Given the description of an element on the screen output the (x, y) to click on. 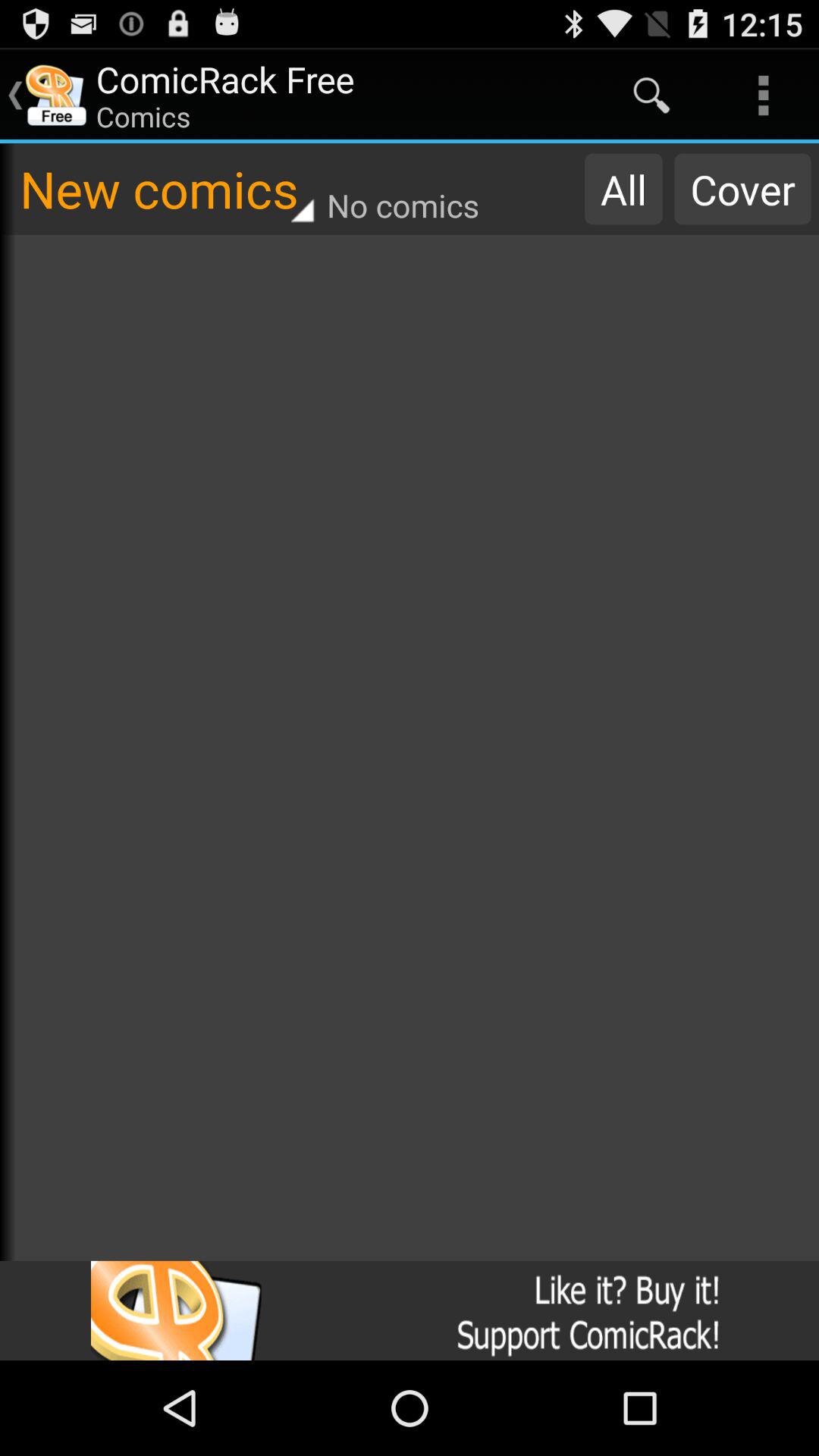
click advertisement (409, 1310)
